Given the description of an element on the screen output the (x, y) to click on. 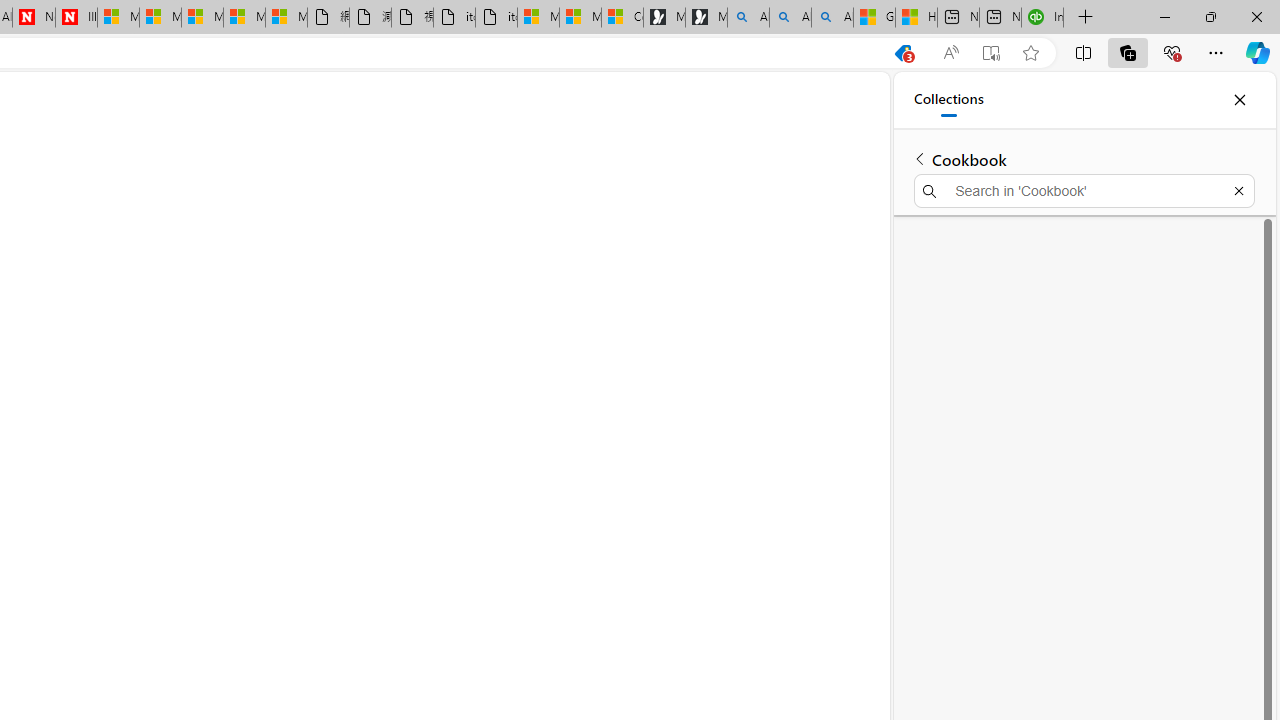
AutomationID: wheel (541, 447)
Exit search (1238, 190)
Alabama high school quarterback dies - Search Videos (831, 17)
What is OpenAI SearchGPT? How it works and How to Get it? (697, 350)
Full Stack Developer Roadmap [2024 Updated] (697, 395)
Elon Musk's xAI releases Grok-2 AI assistant (697, 306)
How to Use a TV as a Computer Monitor (916, 17)
Class: Bz112c Bz112c-r9oPif (1208, 122)
Best SSL Certificates Provider in India (697, 269)
Alabama high school quarterback dies - Search (748, 17)
View More (789, 203)
